Given the description of an element on the screen output the (x, y) to click on. 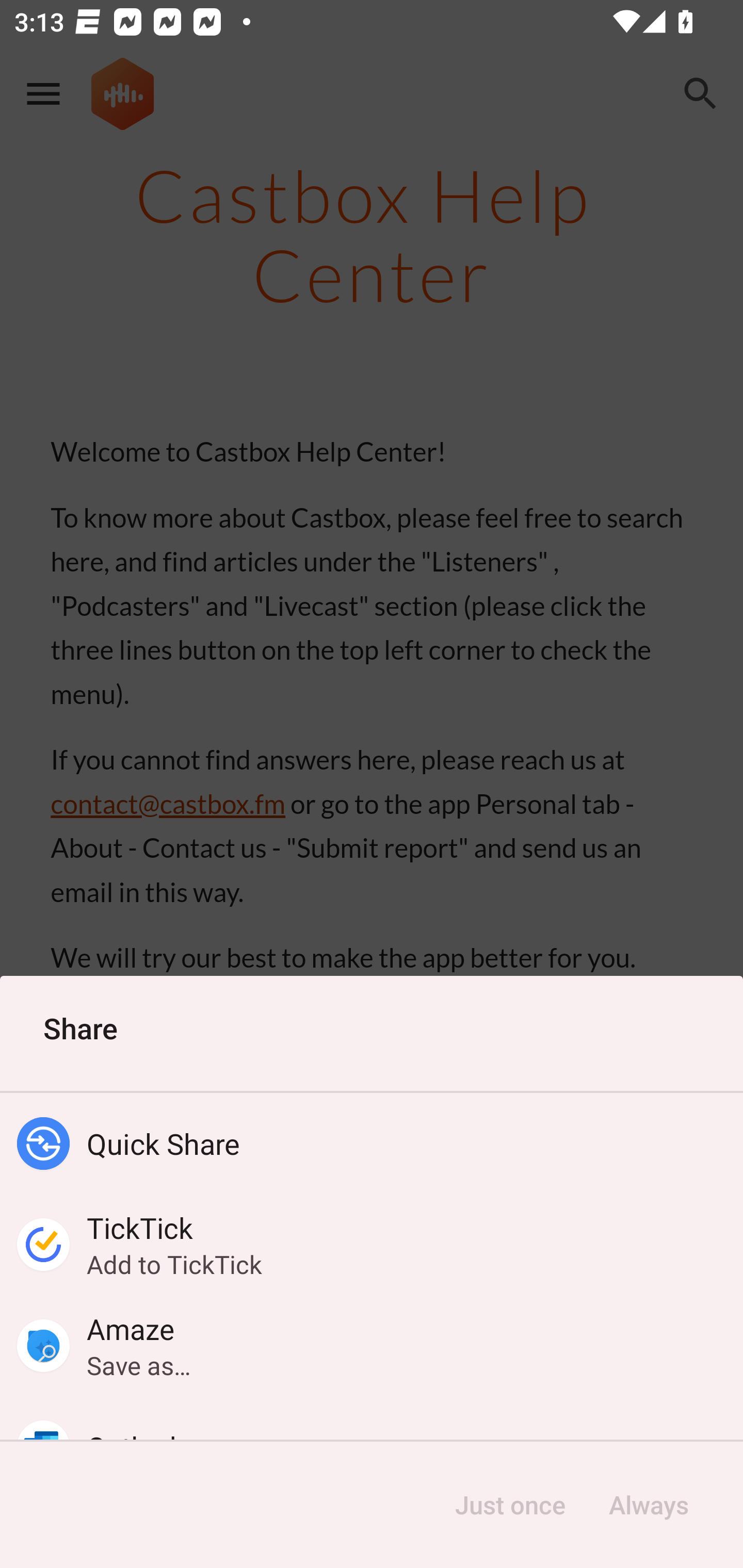
Quick Share (371, 1143)
TickTick Add to TickTick (371, 1244)
Amaze Save as… (371, 1345)
Just once (509, 1504)
Always (648, 1504)
